Given the description of an element on the screen output the (x, y) to click on. 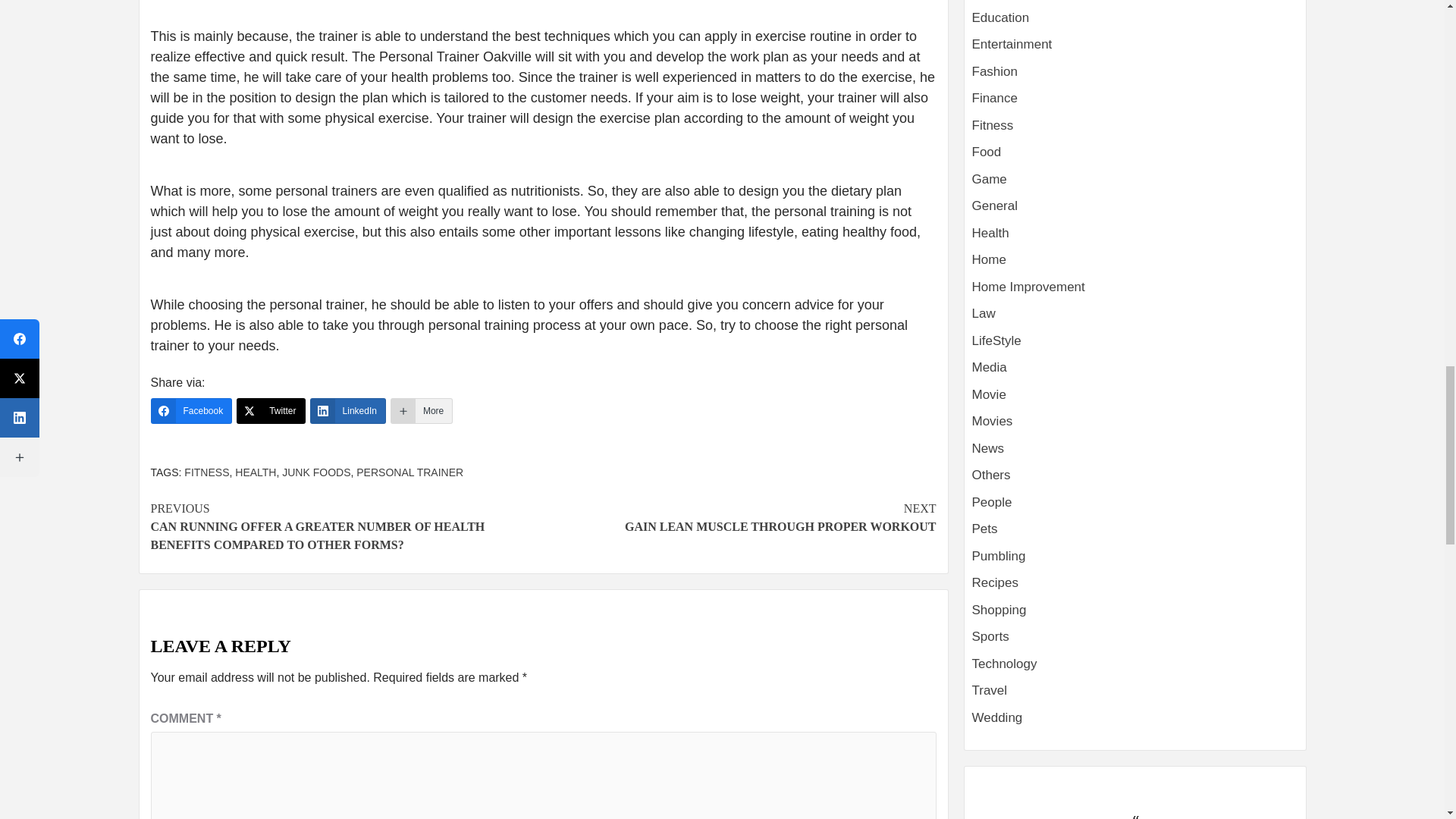
PERSONAL TRAINER (409, 472)
Facebook (190, 411)
FITNESS (206, 472)
LinkedIn (347, 411)
JUNK FOODS (316, 472)
HEALTH (255, 472)
Twitter (269, 411)
More (739, 517)
